Given the description of an element on the screen output the (x, y) to click on. 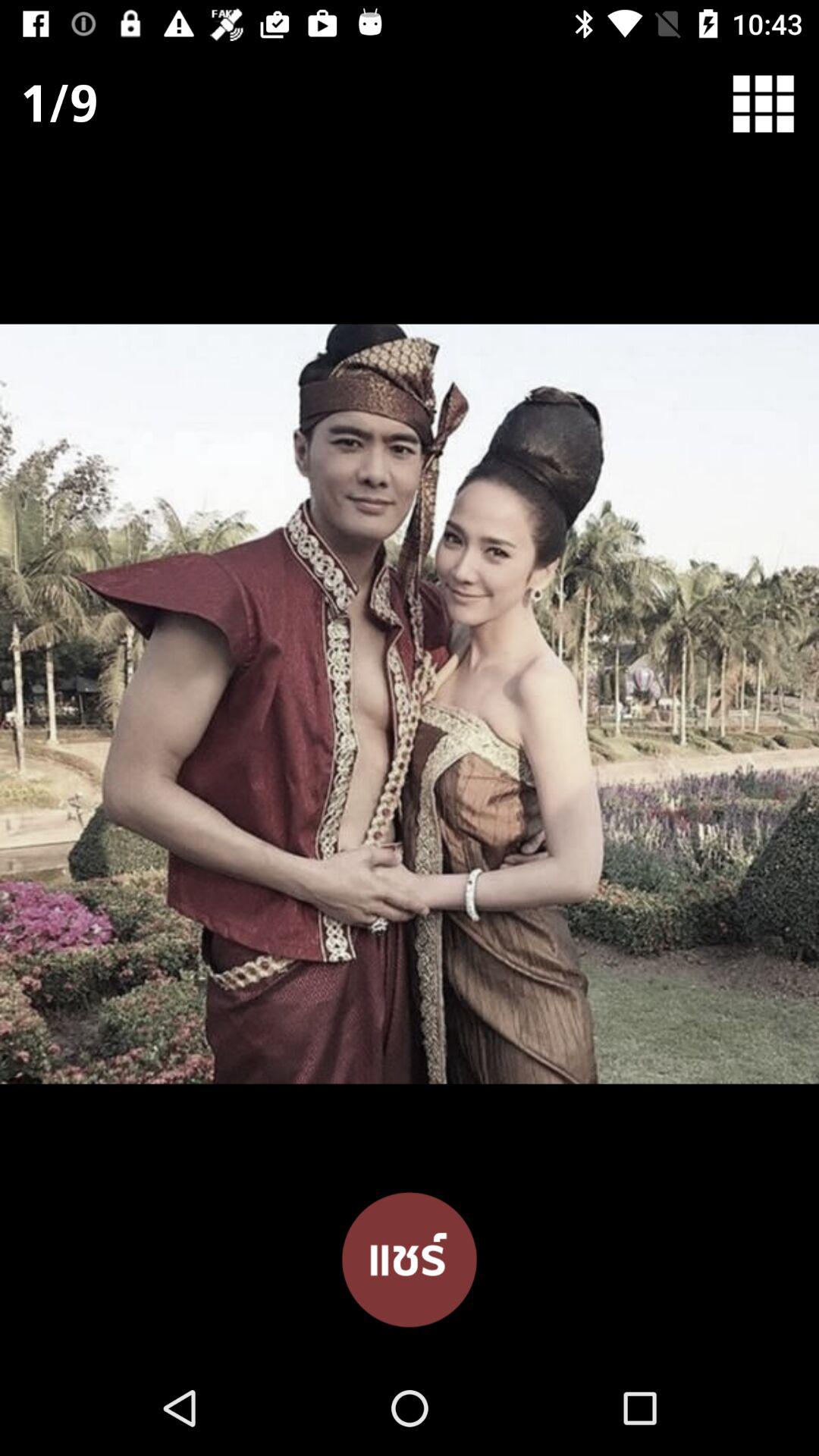
choose the item at the bottom (409, 1258)
